Given the description of an element on the screen output the (x, y) to click on. 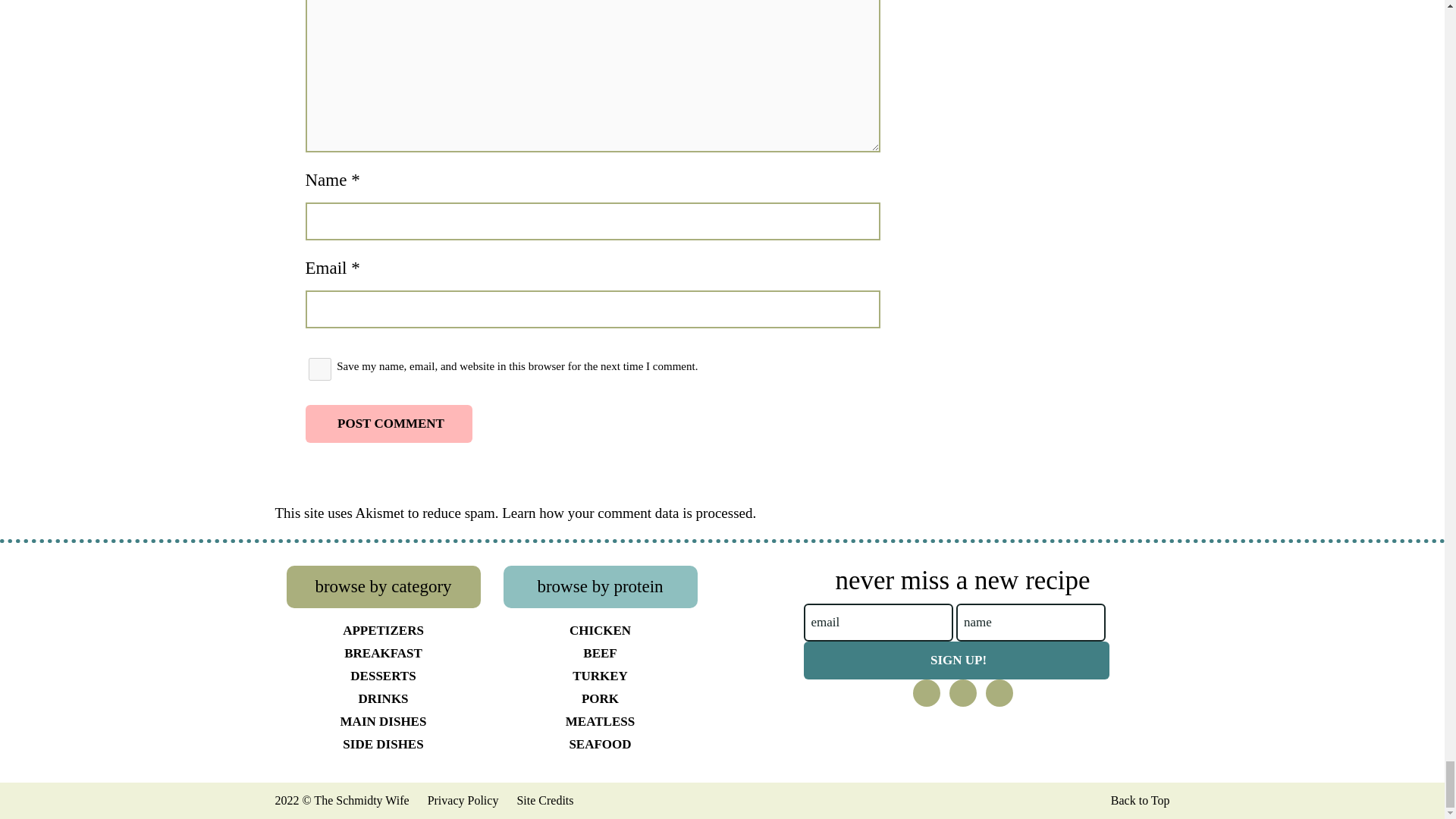
sign up! (956, 660)
Post Comment (387, 423)
